Given the description of an element on the screen output the (x, y) to click on. 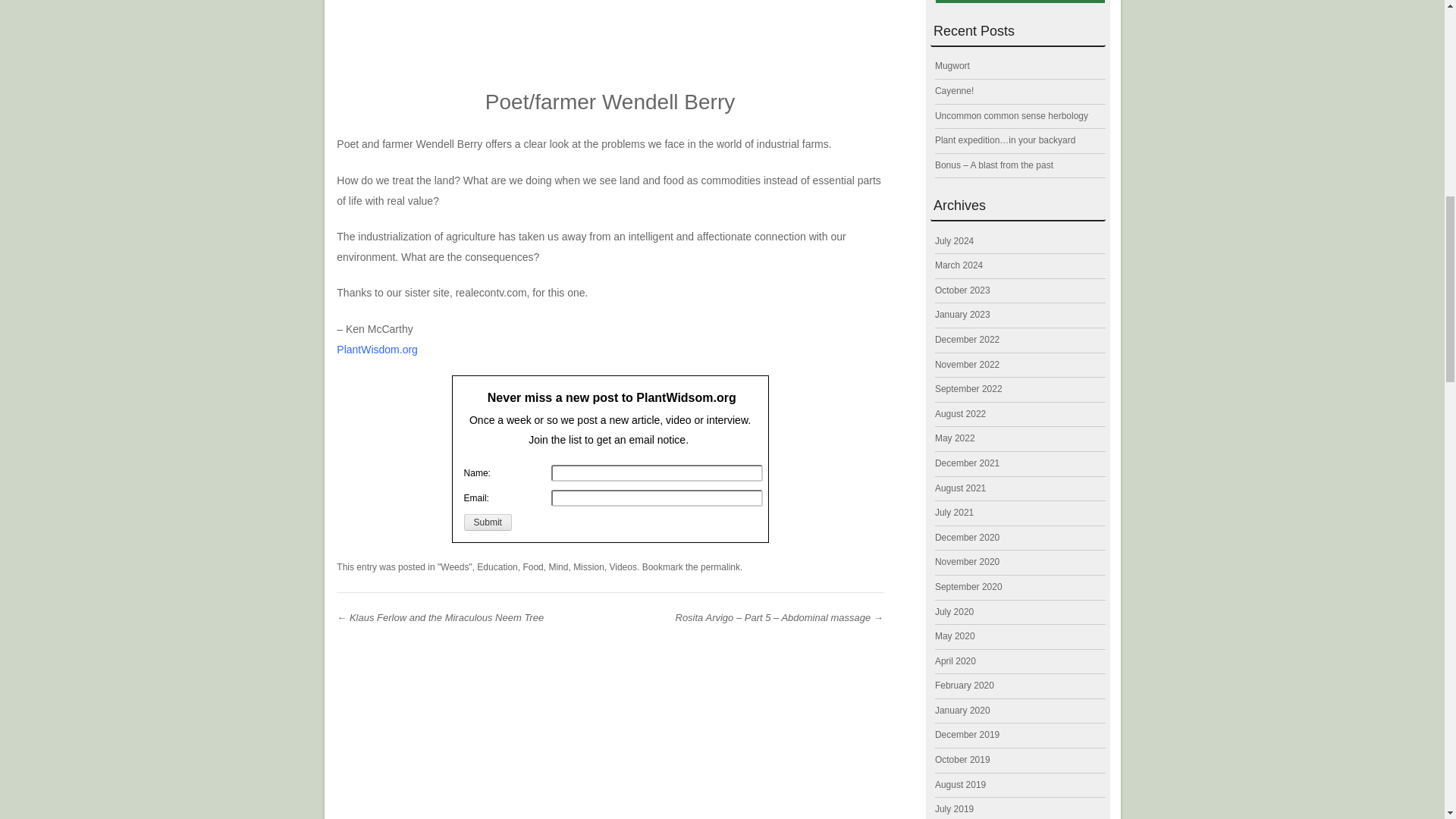
Mind (557, 566)
PlantWisdom.org (376, 349)
July 2024 (954, 240)
permalink (719, 566)
Videos (622, 566)
Education (496, 566)
Cayenne! (954, 90)
Food (532, 566)
Mugwort (951, 65)
Permalink to What happens when the countryside is destroyed (719, 566)
